Given the description of an element on the screen output the (x, y) to click on. 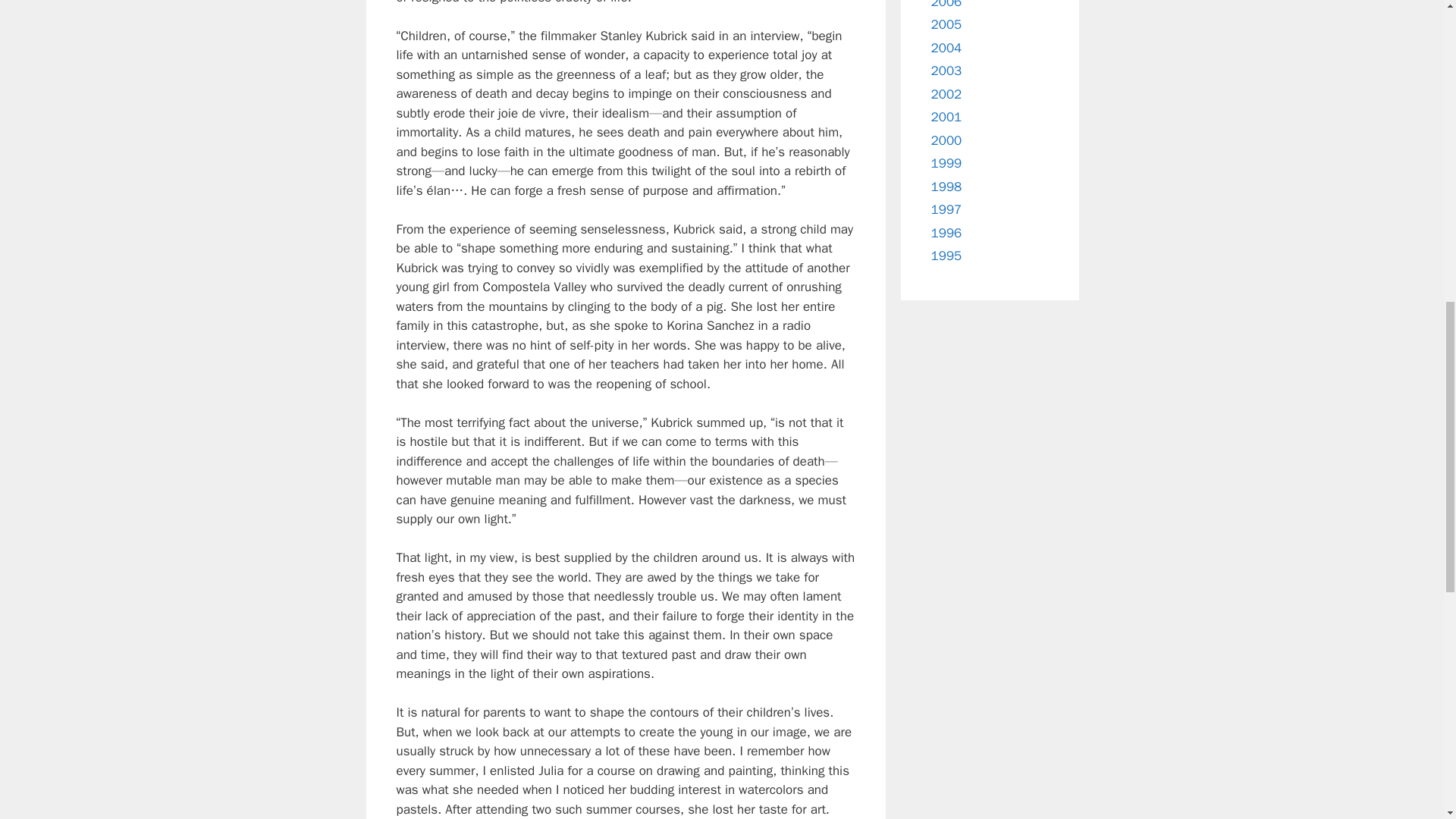
Scroll back to top (1406, 720)
